Given the description of an element on the screen output the (x, y) to click on. 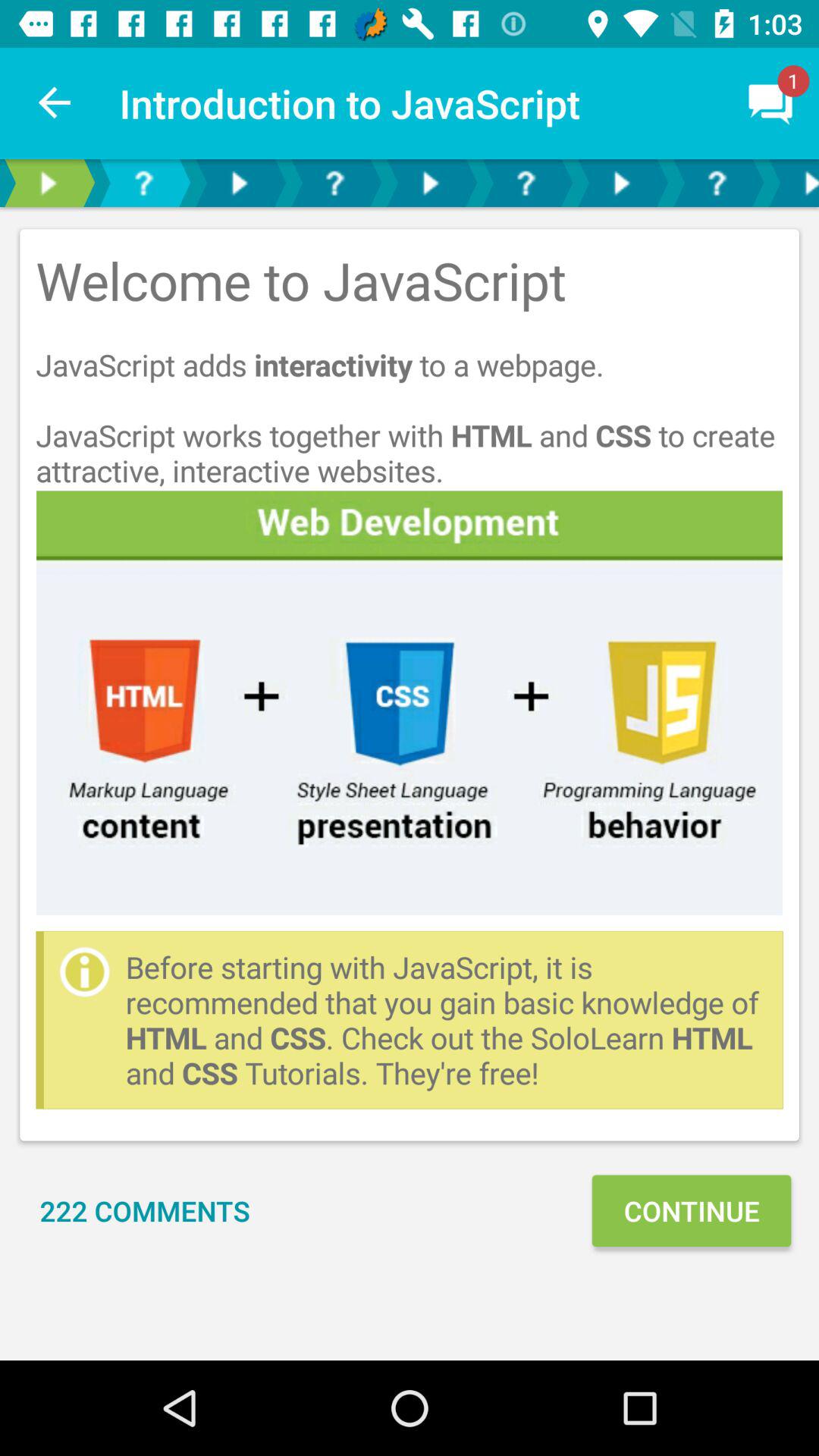
see question/answer (143, 183)
